Given the description of an element on the screen output the (x, y) to click on. 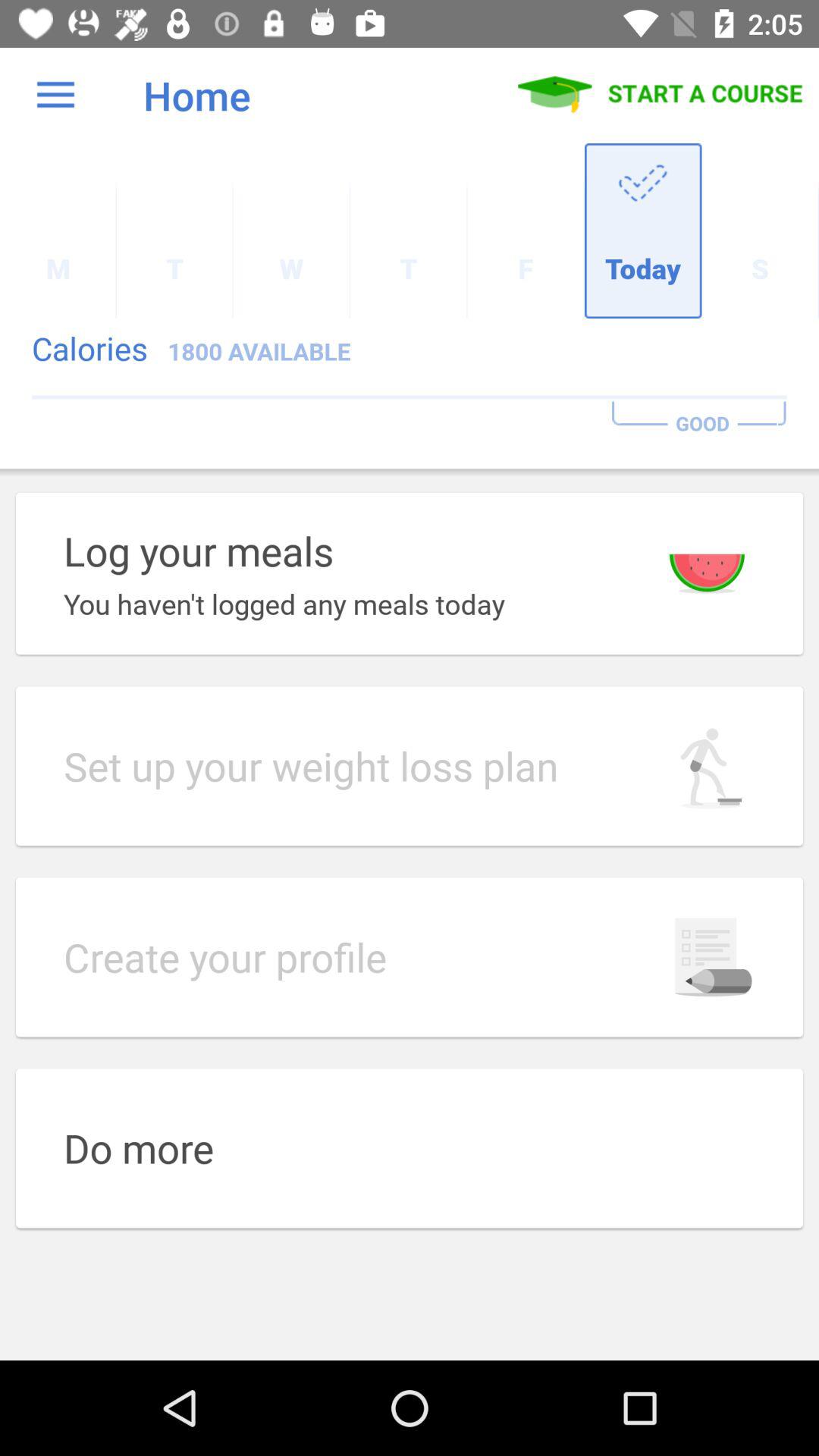
turn off icon to the right of the home (660, 95)
